Given the description of an element on the screen output the (x, y) to click on. 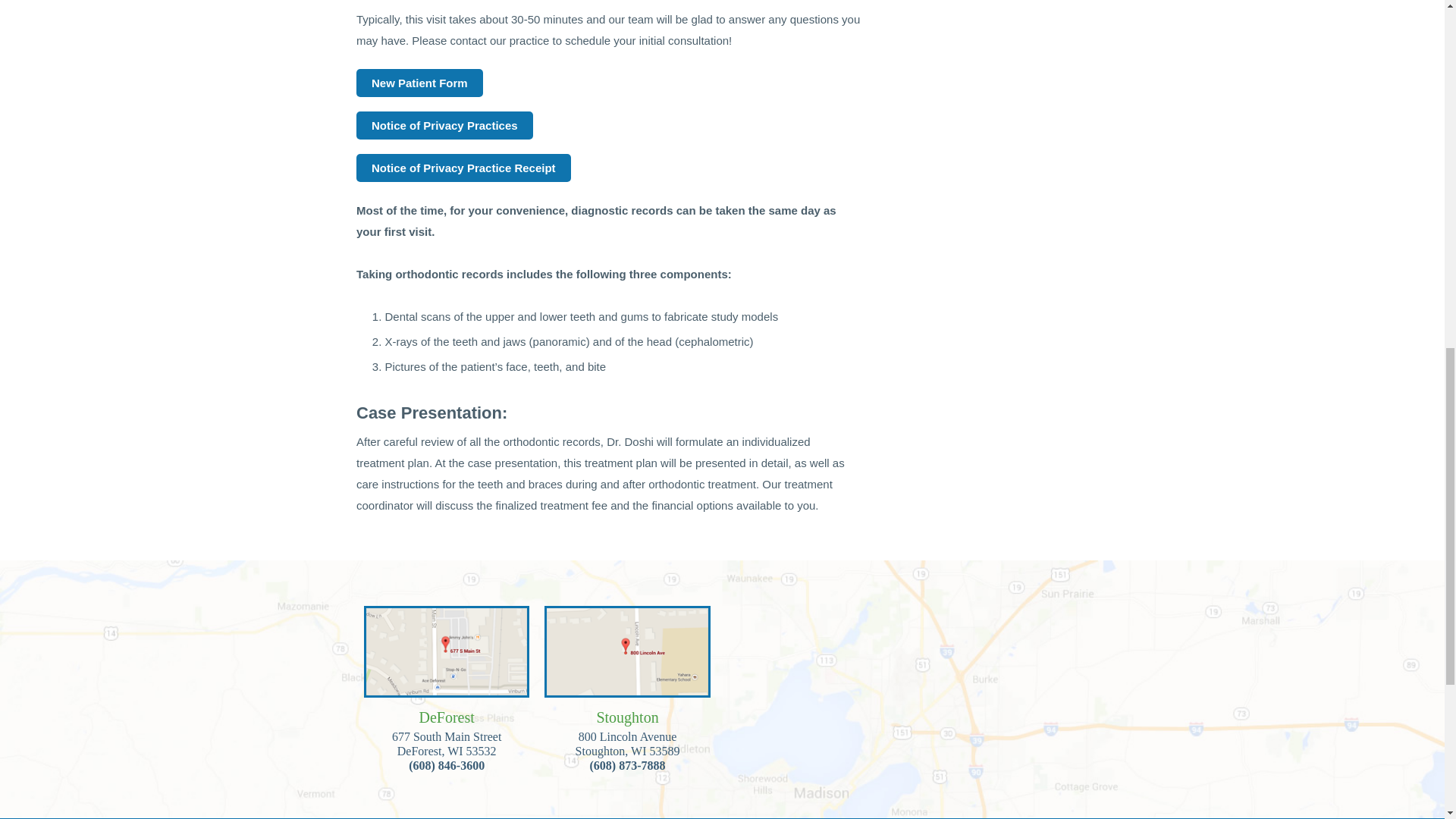
New Patient Form (419, 82)
Notice of Privacy Practice Receipt (463, 167)
Notice of Privacy Practices (444, 125)
